Given the description of an element on the screen output the (x, y) to click on. 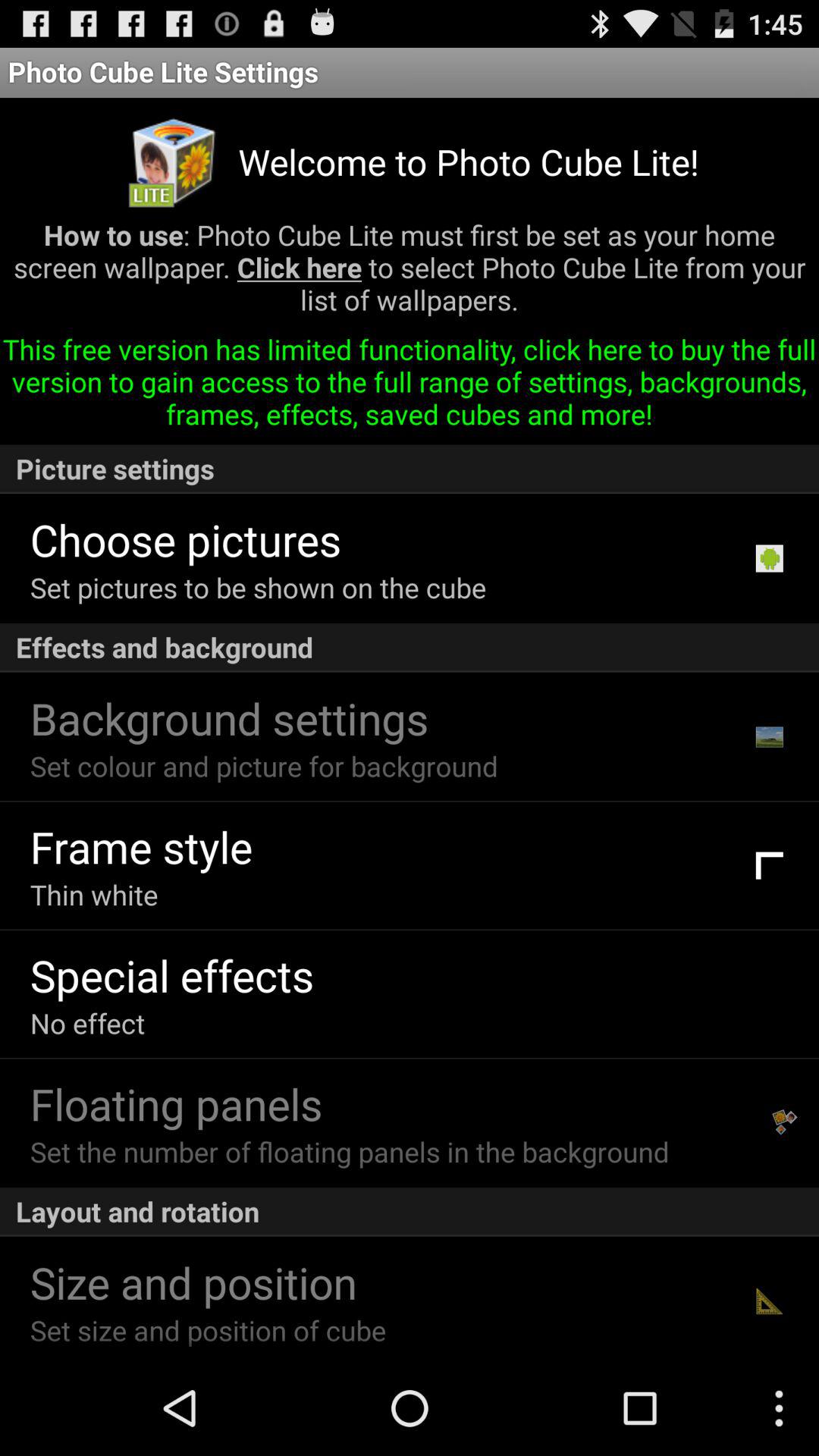
swipe until thin white icon (94, 894)
